Given the description of an element on the screen output the (x, y) to click on. 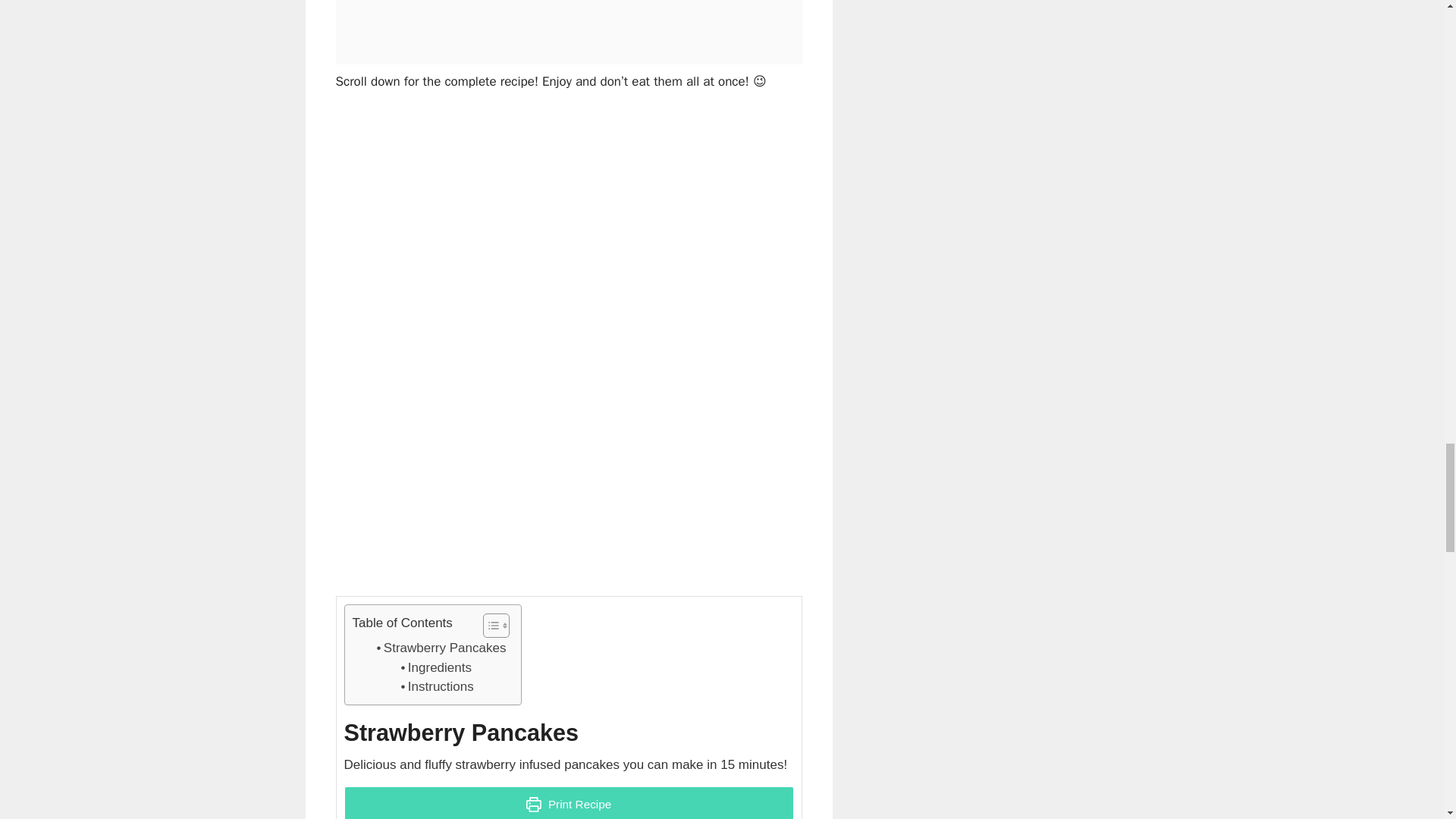
Ingredients   (439, 668)
Instructions  (438, 686)
Strawberry Pancakes (440, 648)
Print Recipe (568, 802)
Strawberry Pancakes (440, 648)
